Given the description of an element on the screen output the (x, y) to click on. 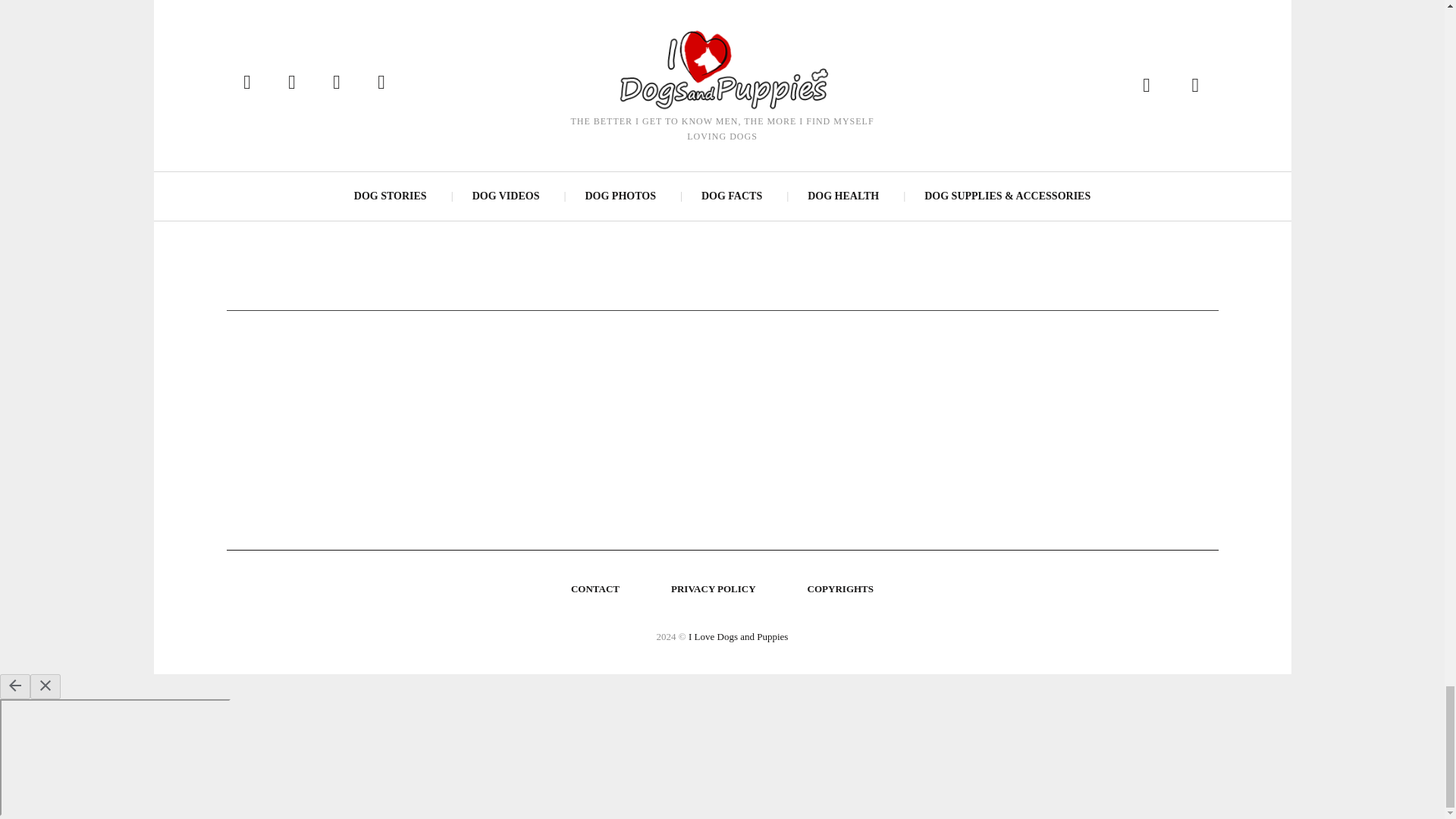
Submit (1174, 37)
COPYRIGHTS (839, 588)
CONTACT (595, 588)
PRIVACY POLICY (714, 588)
Submit (1174, 37)
I Love Dogs and Puppies (737, 636)
